Given the description of an element on the screen output the (x, y) to click on. 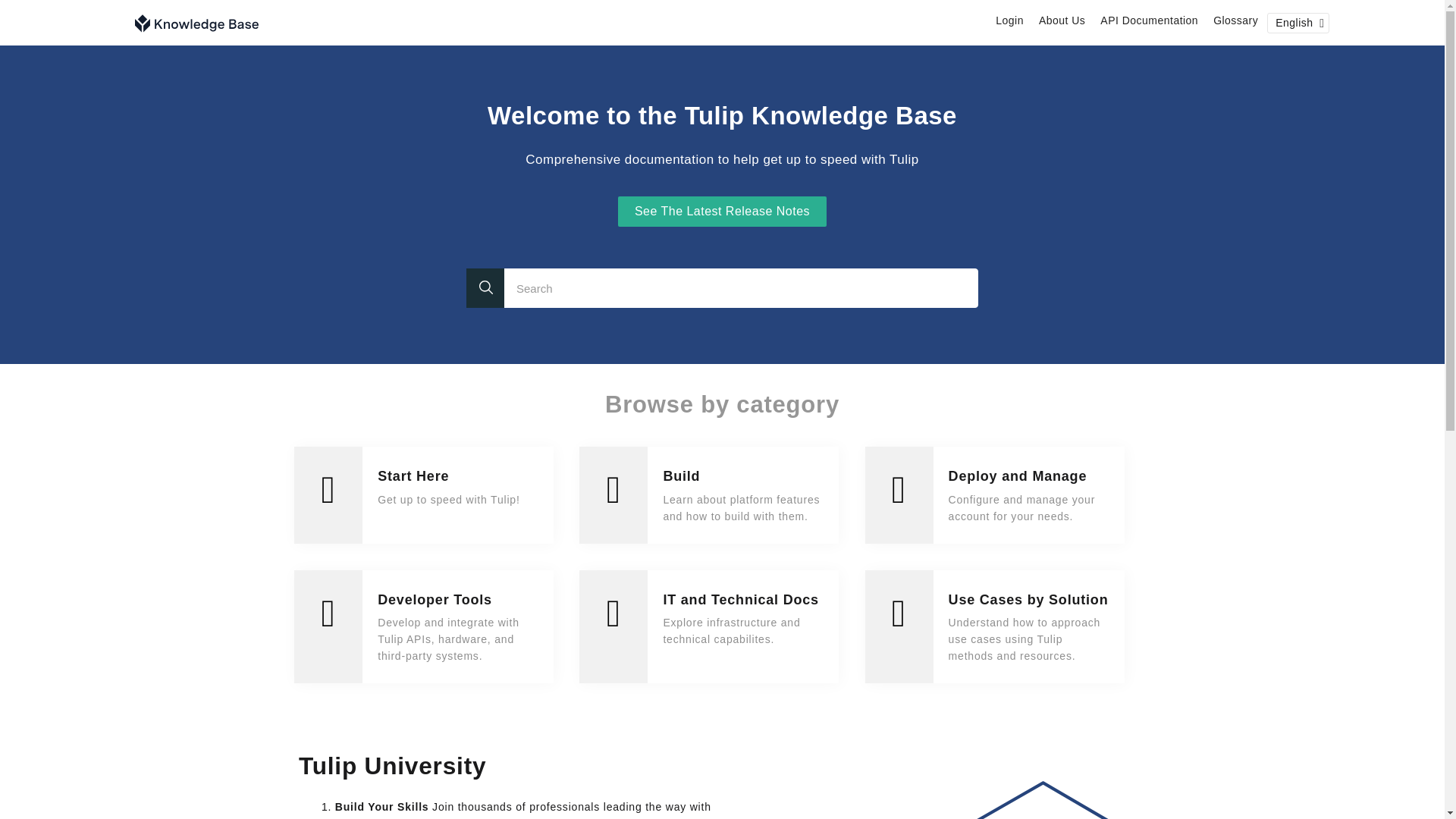
About Us (1061, 20)
Glossary (1234, 20)
Login (1009, 20)
See The Latest Release Notes (722, 211)
API Documentation (1149, 20)
